Given the description of an element on the screen output the (x, y) to click on. 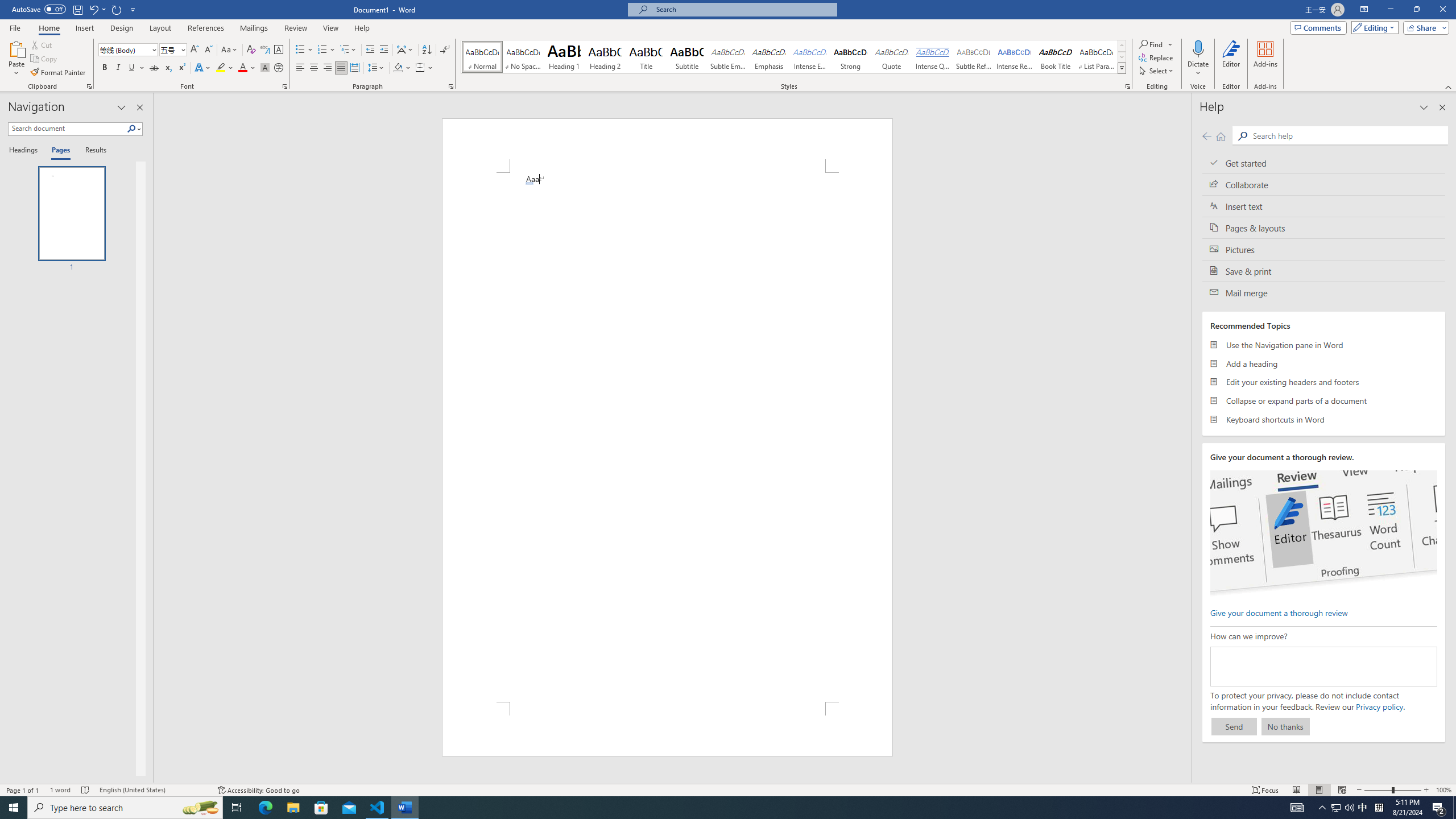
Home (48, 28)
Mail merge (1323, 292)
Save & print (1323, 270)
How can we improve? (1323, 666)
Quote (891, 56)
Asian Layout (405, 49)
Class: MsoCommandBar (728, 789)
Close (1442, 9)
Row Down (1121, 56)
Restore Down (1416, 9)
Find (1155, 44)
Character Shading (264, 67)
Heading 1 (564, 56)
